Given the description of an element on the screen output the (x, y) to click on. 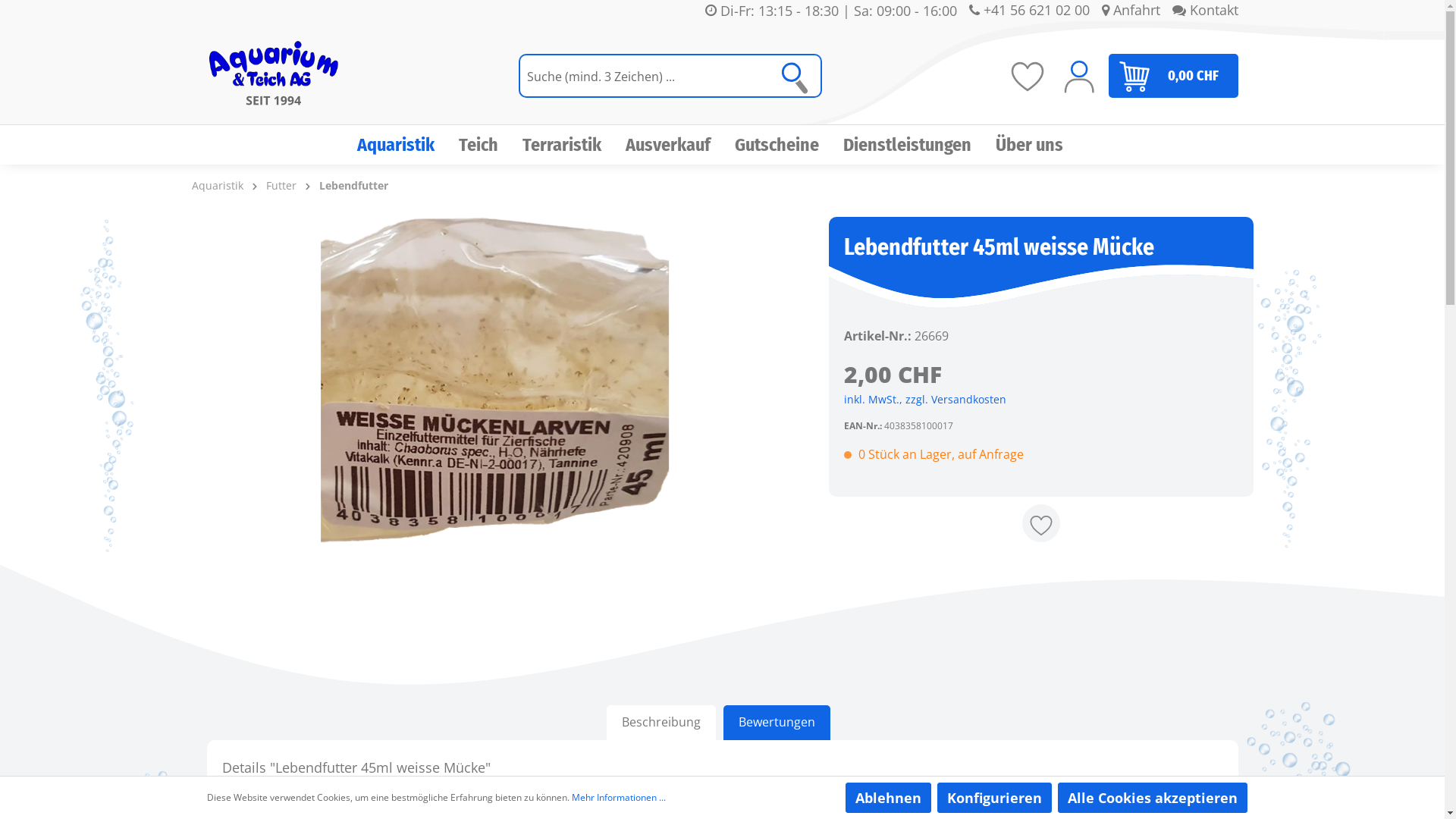
+41 56 621 02 00 Element type: text (1029, 10)
Terraristik Element type: text (573, 144)
Ablehnen Element type: text (887, 797)
Zur Startseite wechseln Element type: hover (272, 75)
Konfigurieren Element type: text (994, 797)
Lebendfutter Element type: text (352, 185)
Ausverkauf Element type: text (679, 144)
inkl. MwSt., zzgl. Versandkosten Element type: text (924, 399)
Mehr Informationen ... Element type: text (618, 797)
Bewertungen Element type: text (776, 722)
Merkzettel Element type: hover (1026, 75)
Gutscheine Element type: text (788, 144)
0,00 CHF Element type: text (1173, 75)
Merkzettel ein-/ausschalten Element type: hover (1041, 523)
Kontakt Element type: text (1205, 10)
Alle Cookies akzeptieren Element type: text (1151, 797)
Anfahrt Element type: text (1130, 10)
Aquaristik Element type: text (407, 144)
Dienstleistungen Element type: text (919, 144)
Mein Konto Element type: hover (1078, 75)
Futter Element type: text (280, 185)
Beschreibung Element type: text (660, 722)
Aquaristik Element type: text (216, 185)
Teich Element type: text (490, 144)
